Given the description of an element on the screen output the (x, y) to click on. 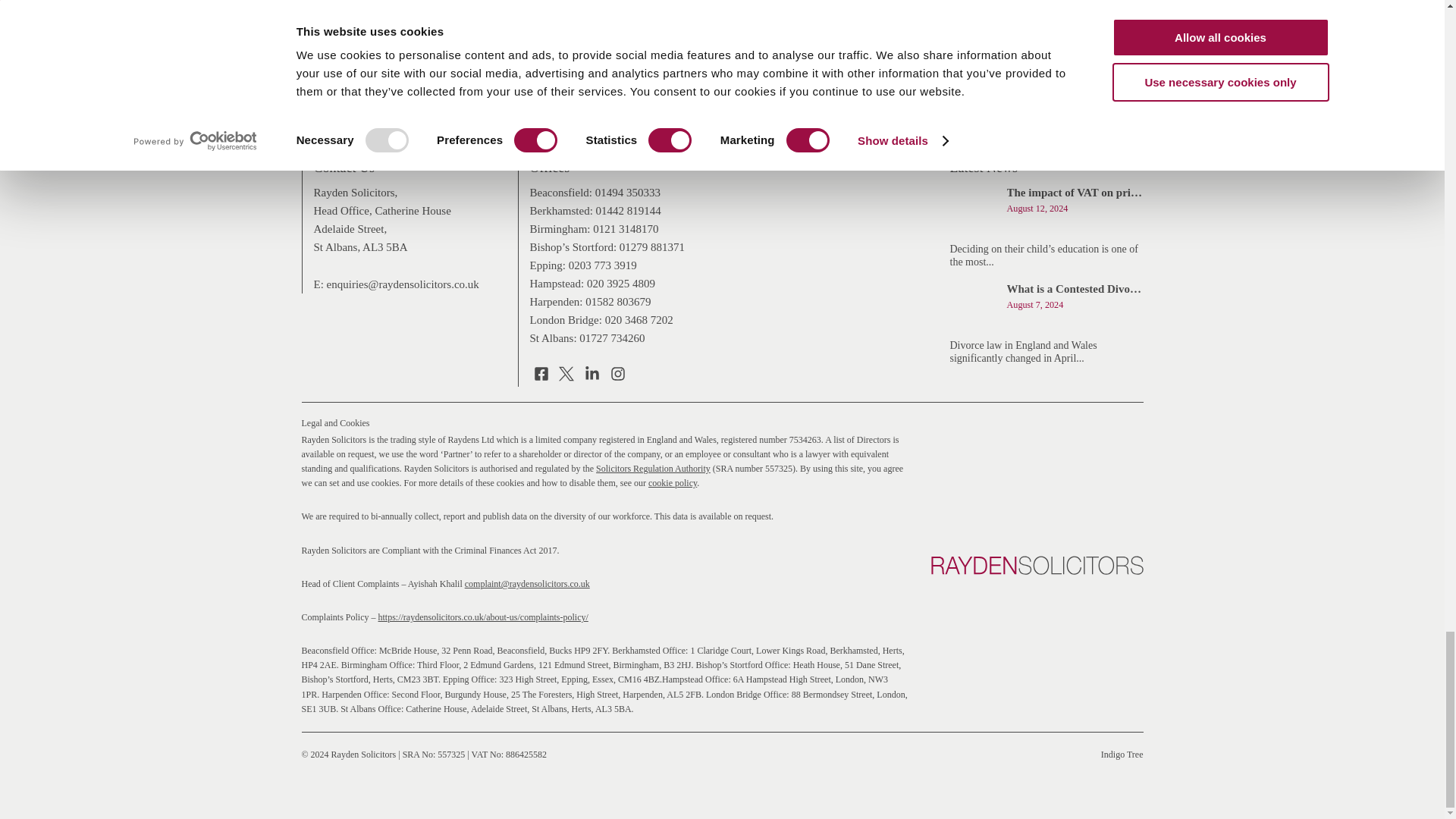
x (566, 376)
instagram (617, 376)
facebook (540, 376)
linkedin (592, 376)
